Given the description of an element on the screen output the (x, y) to click on. 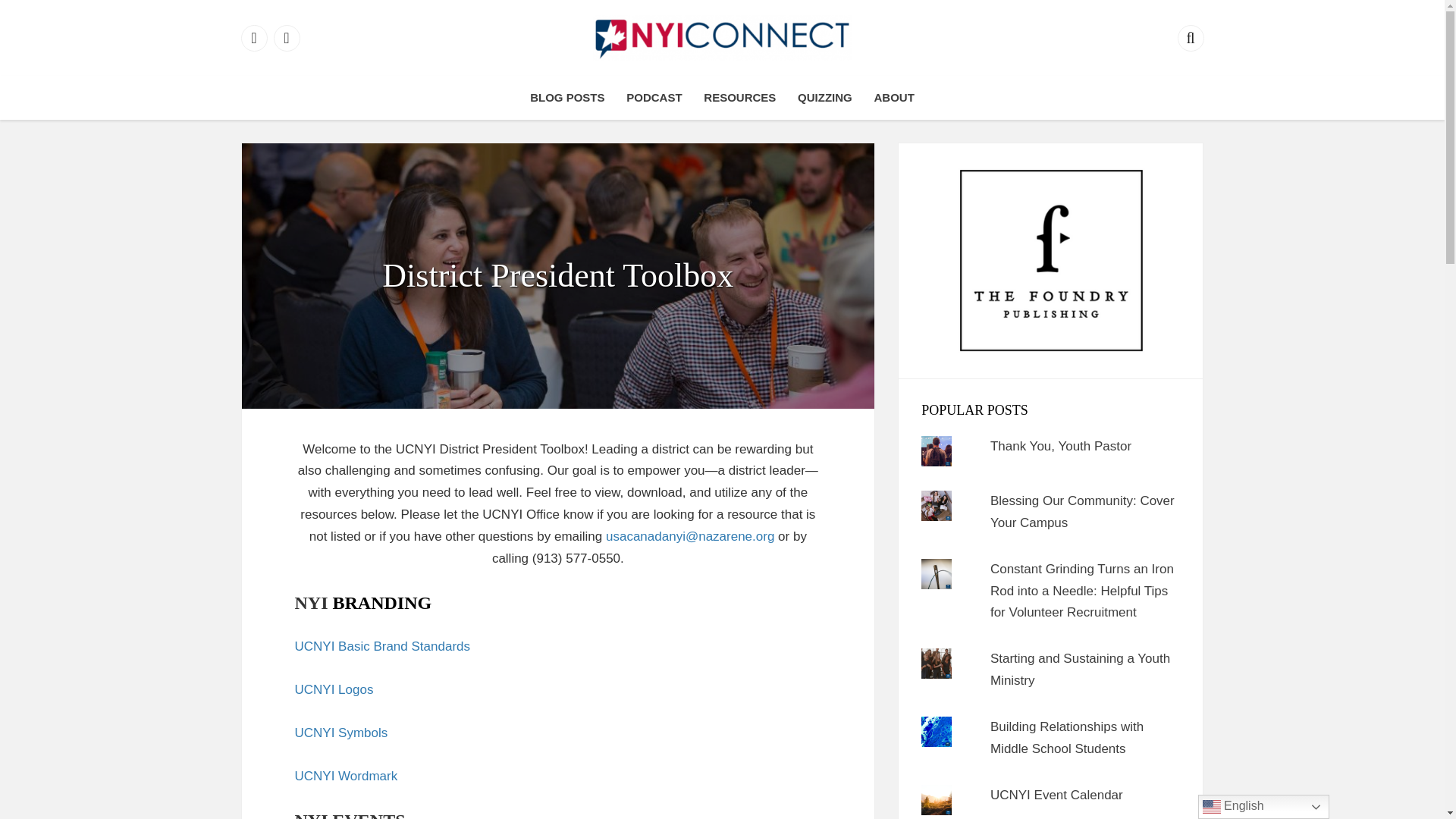
ABOUT (893, 97)
Search (1190, 37)
Facebook (254, 37)
NYI Connect (811, 77)
BLOG POSTS (566, 97)
Instagram (286, 37)
Search (1190, 37)
QUIZZING (825, 97)
RESOURCES (739, 97)
